Given the description of an element on the screen output the (x, y) to click on. 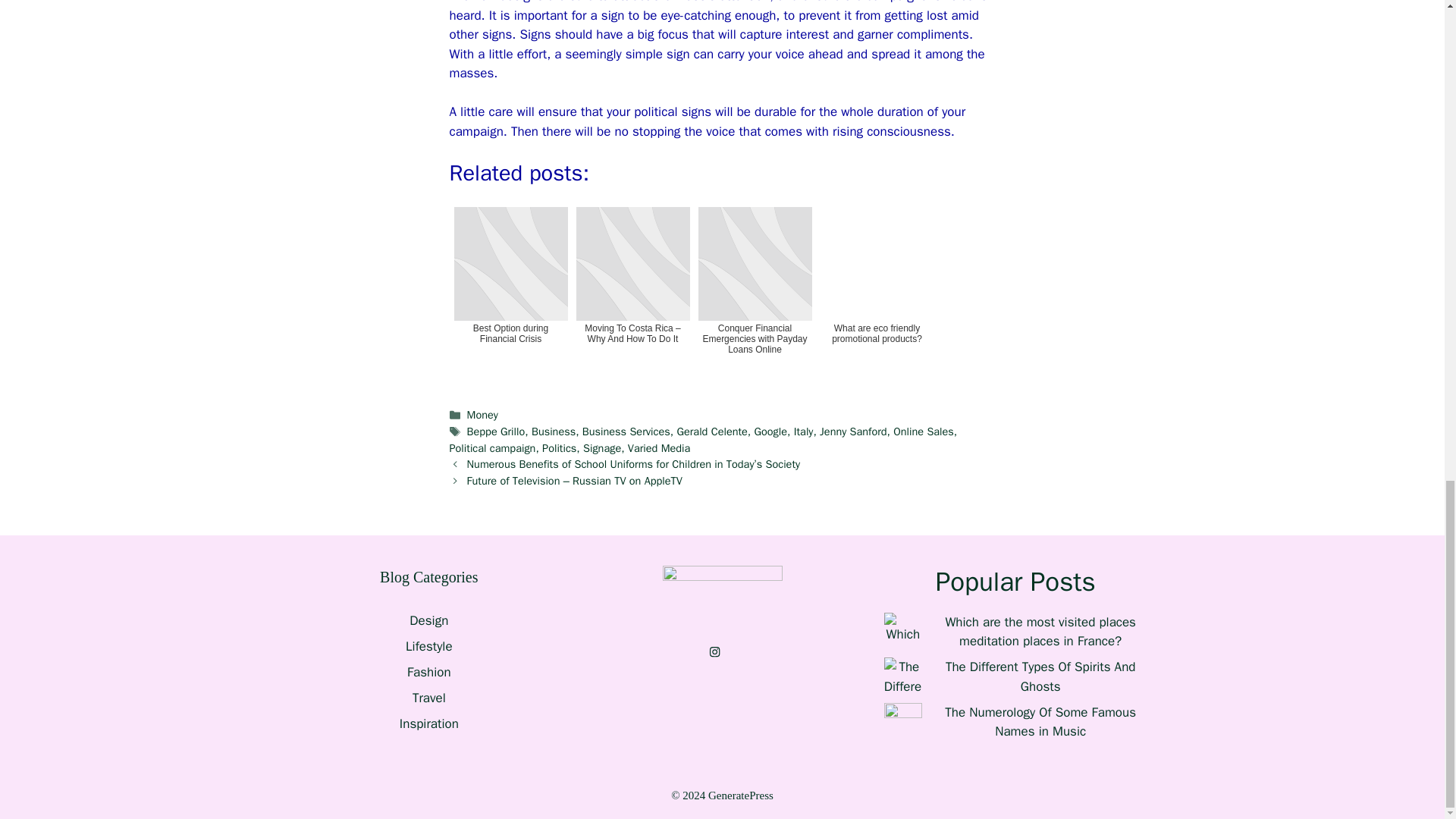
Politics (558, 448)
Gerald Celente (711, 431)
Google (770, 431)
Business Services (625, 431)
Beppe Grillo (496, 431)
Italy (803, 431)
Varied Media (658, 448)
Political campaign (491, 448)
Money (482, 414)
Signage (602, 448)
Business (553, 431)
Jenny Sanford (852, 431)
Scroll back to top (1406, 360)
Online Sales (923, 431)
